Given the description of an element on the screen output the (x, y) to click on. 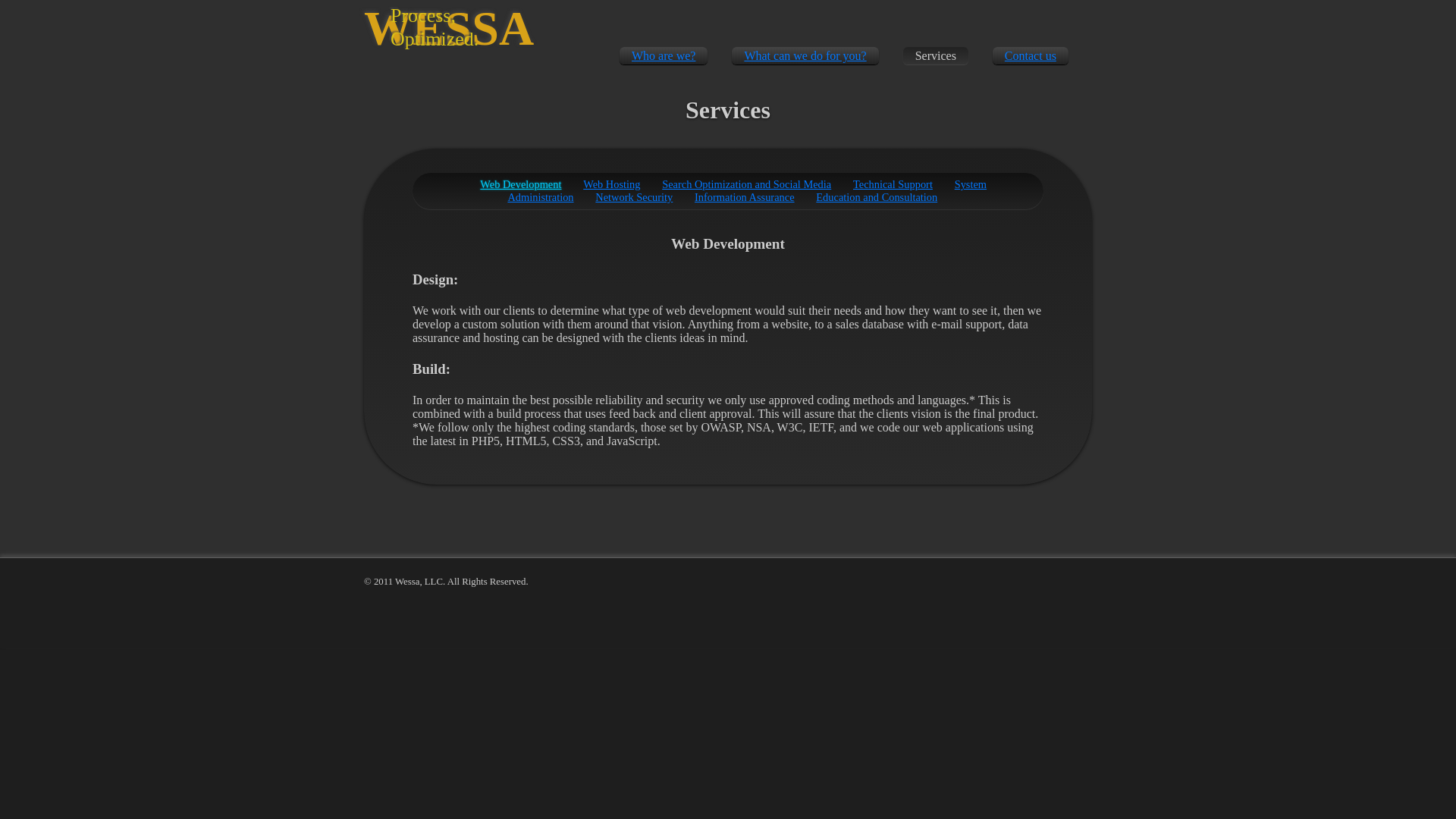
WESSA (449, 29)
System Administration (746, 190)
Network Security (633, 196)
Web Hosting (611, 184)
Technical Support (893, 184)
Who are we? (663, 55)
Education and Consultation (876, 196)
Information Assurance (743, 196)
Web Development (520, 184)
What can we do for you? (804, 55)
